Given the description of an element on the screen output the (x, y) to click on. 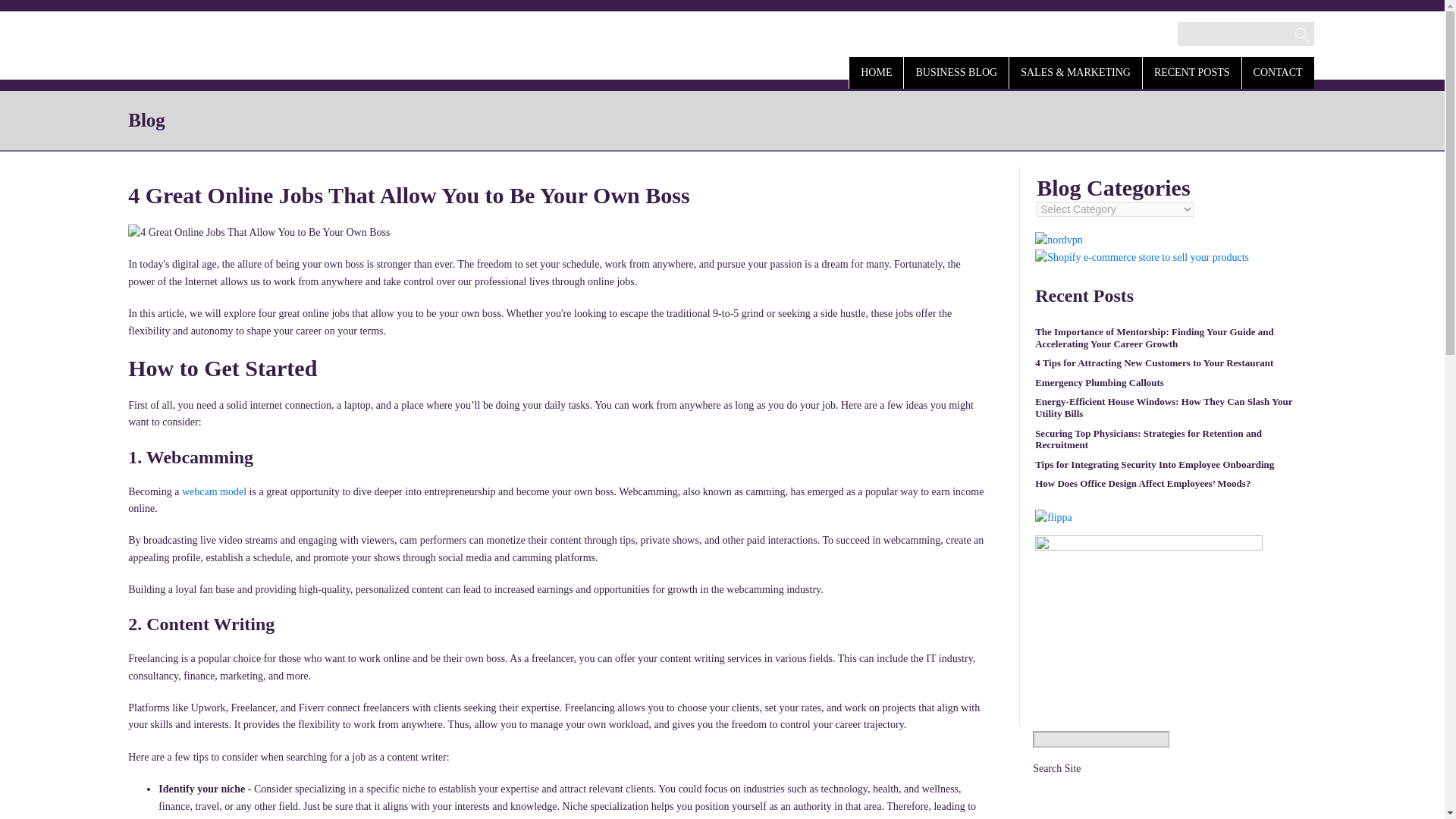
HOME (875, 71)
Search (27, 12)
BUSINESS BLOG (956, 71)
